Given the description of an element on the screen output the (x, y) to click on. 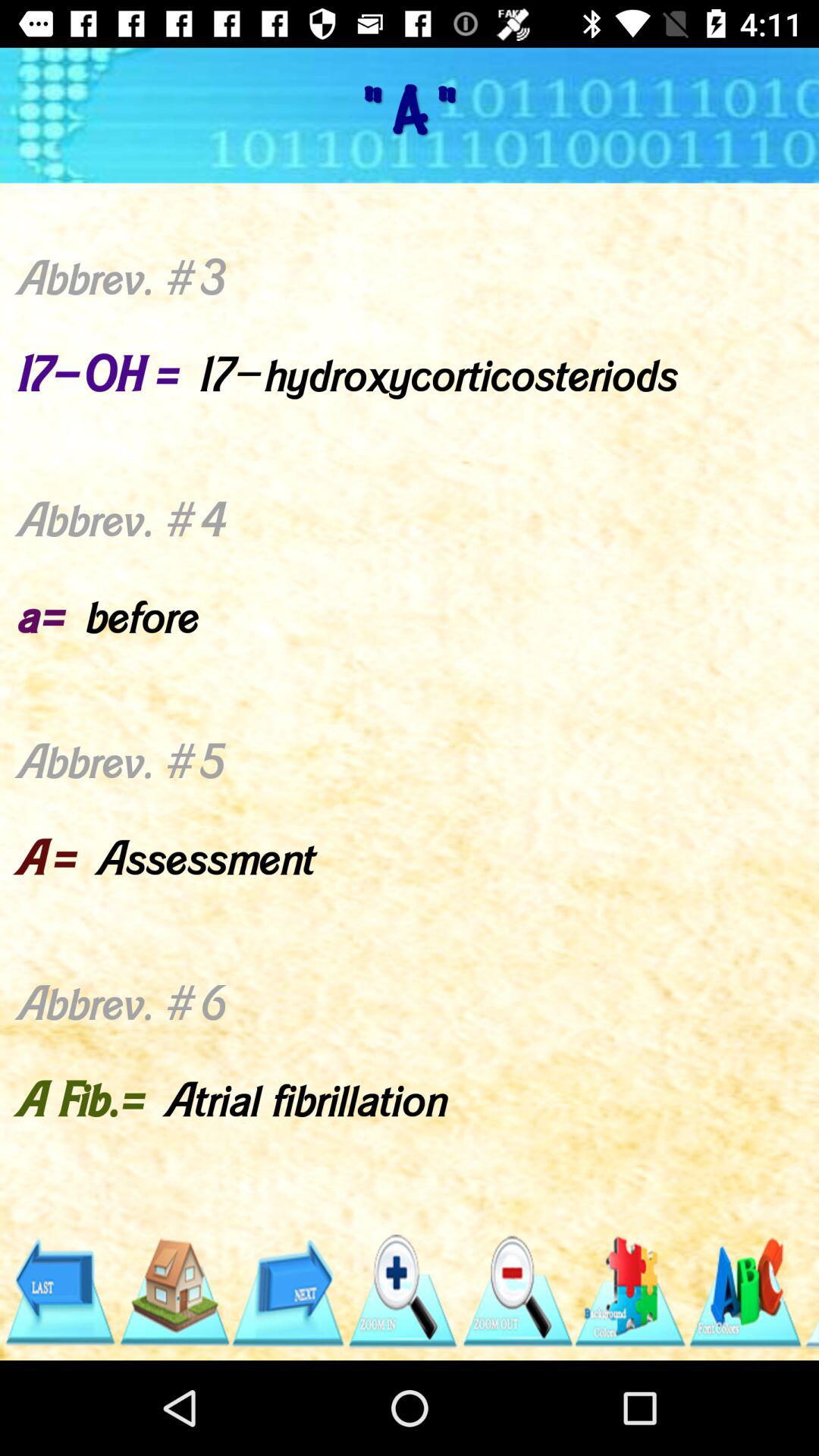
launch item below abbrev 	1	 	 icon (402, 1291)
